Given the description of an element on the screen output the (x, y) to click on. 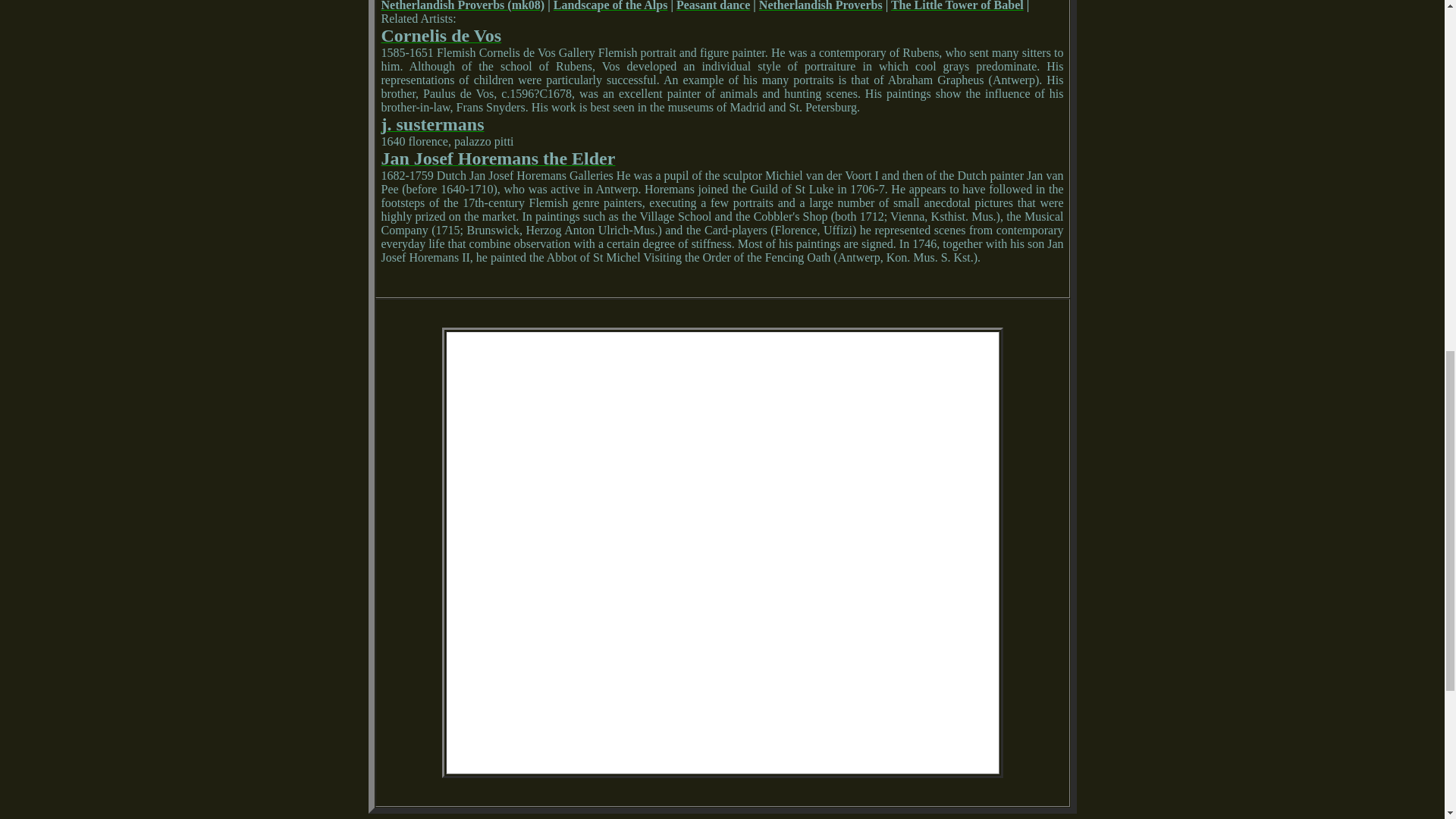
j. sustermans (431, 125)
Netherlandish Proverbs (820, 5)
Jan Josef Horemans the Elder (497, 160)
Cornelis de Vos (440, 37)
Peasant dance (713, 5)
The Little Tower of Babel (957, 5)
Landscape of the Alps (610, 5)
